Given the description of an element on the screen output the (x, y) to click on. 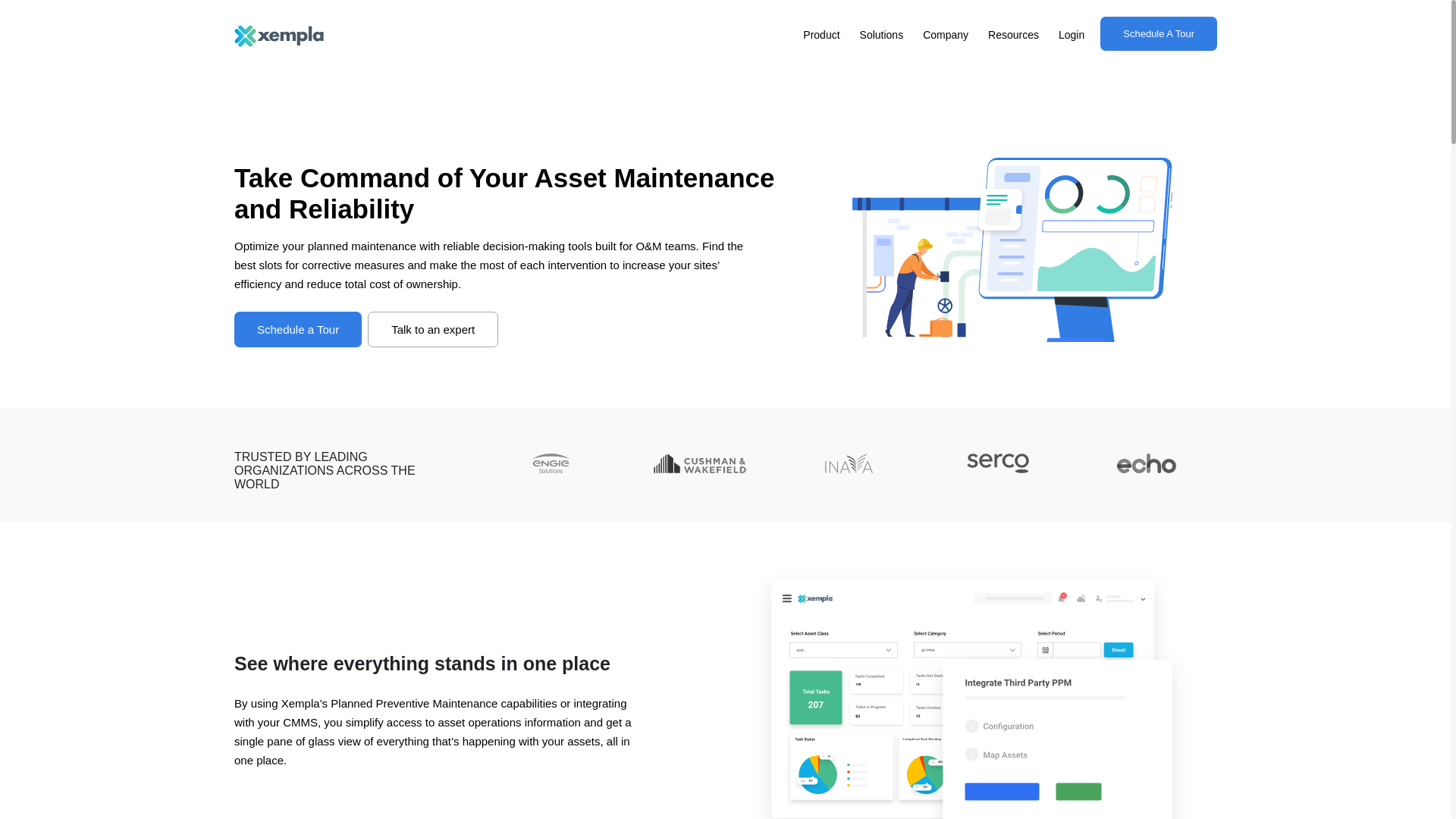
Solutions (881, 36)
Product (821, 36)
